Given the description of an element on the screen output the (x, y) to click on. 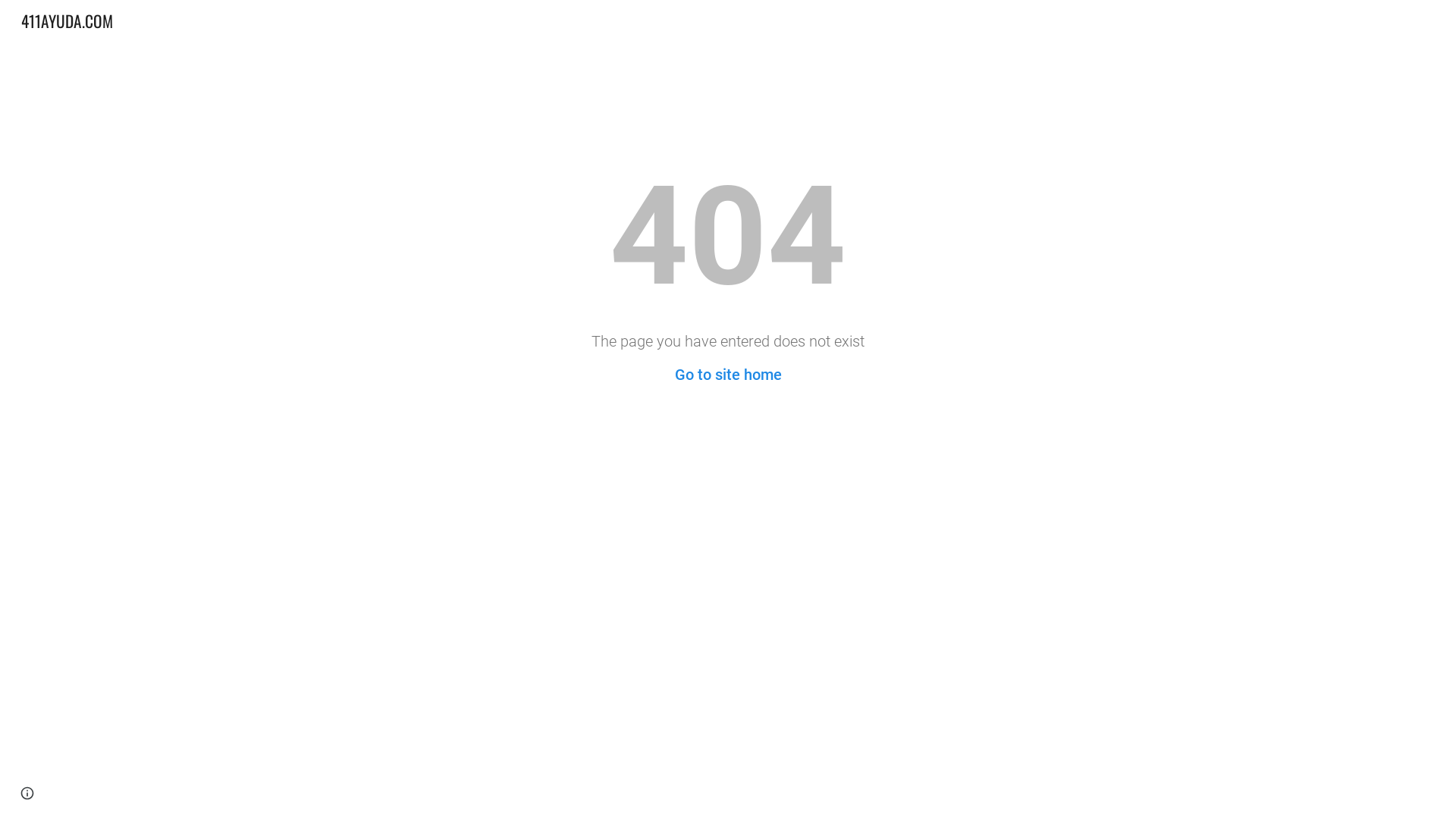
Go to site home Element type: text (727, 374)
411AYUDA.COM Element type: text (67, 18)
